Given the description of an element on the screen output the (x, y) to click on. 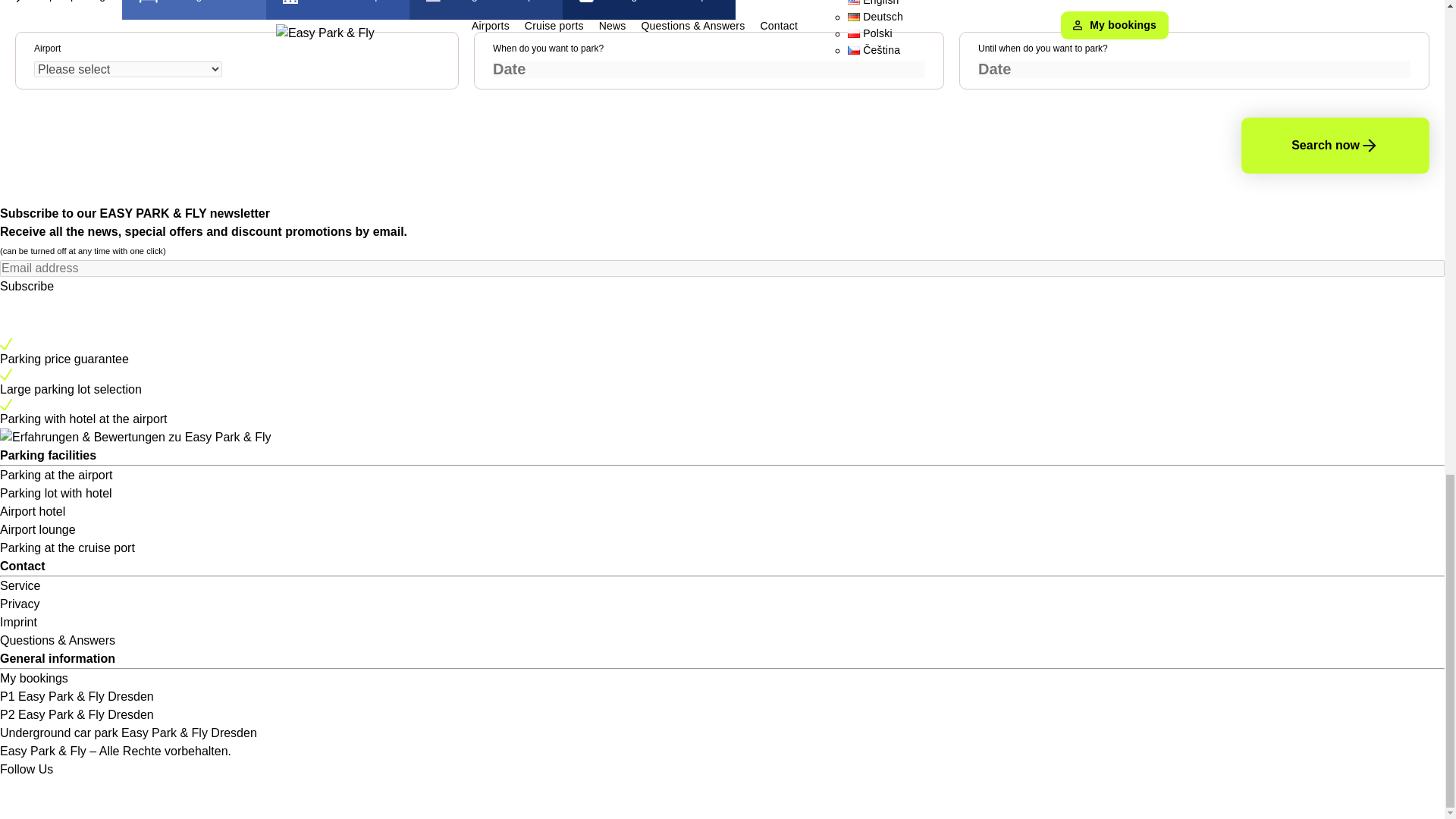
Parking with hotel (194, 17)
Parking at the cruise port (67, 547)
Imprint (18, 621)
Airport lounge (37, 529)
Airport hotel (32, 511)
Parking at the cruise port (648, 17)
Parking lot with hotel (56, 492)
Parking at the airport (56, 474)
Lounge at the airport (485, 17)
My bookings (34, 677)
